Given the description of an element on the screen output the (x, y) to click on. 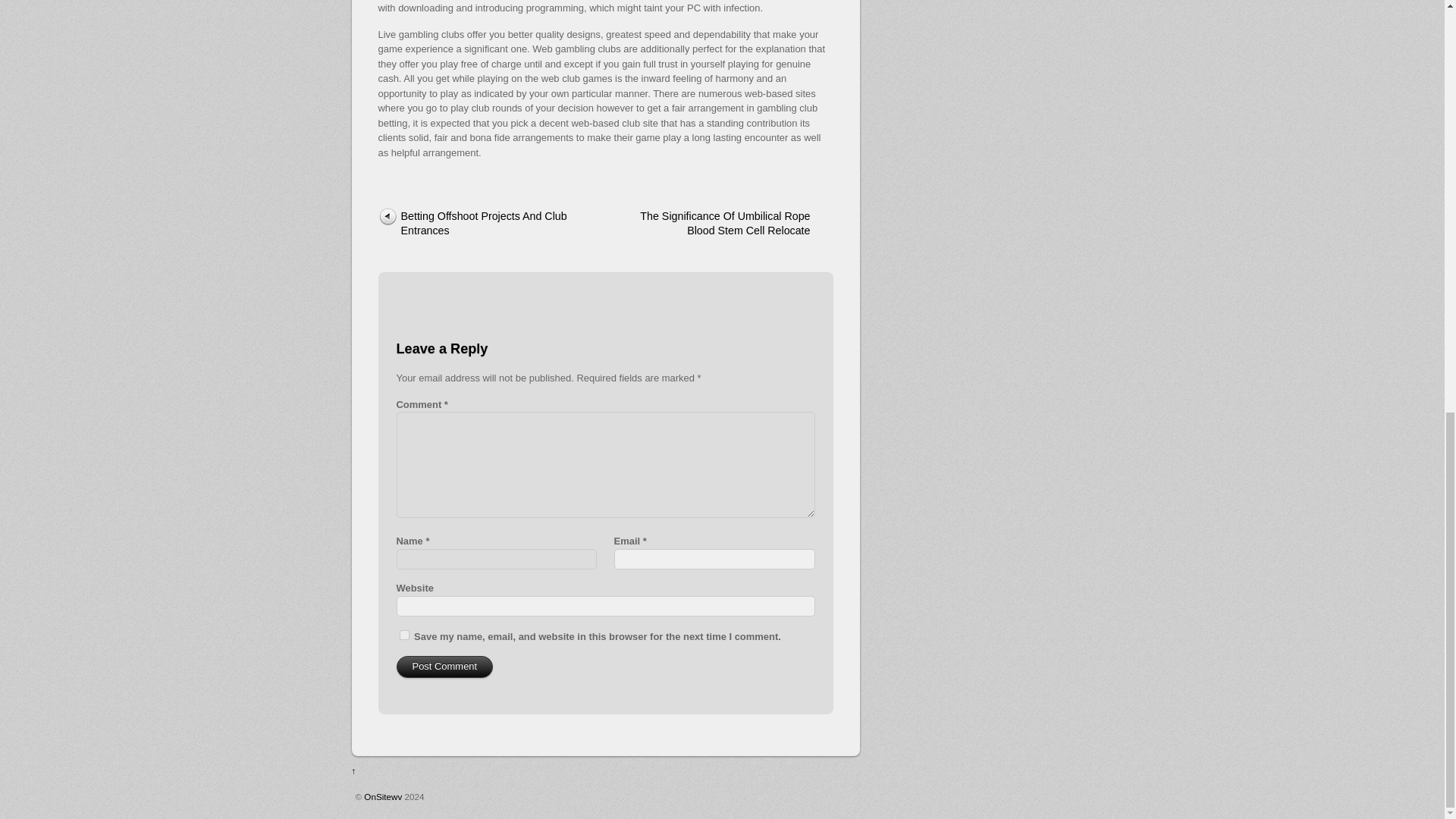
The Significance Of Umbilical Rope Blood Stem Cell Relocate (729, 224)
Betting Offshoot Projects And Club Entrances (479, 224)
Post Comment (444, 667)
yes (403, 634)
Post Comment (444, 667)
OnSitewv (382, 796)
